Given the description of an element on the screen output the (x, y) to click on. 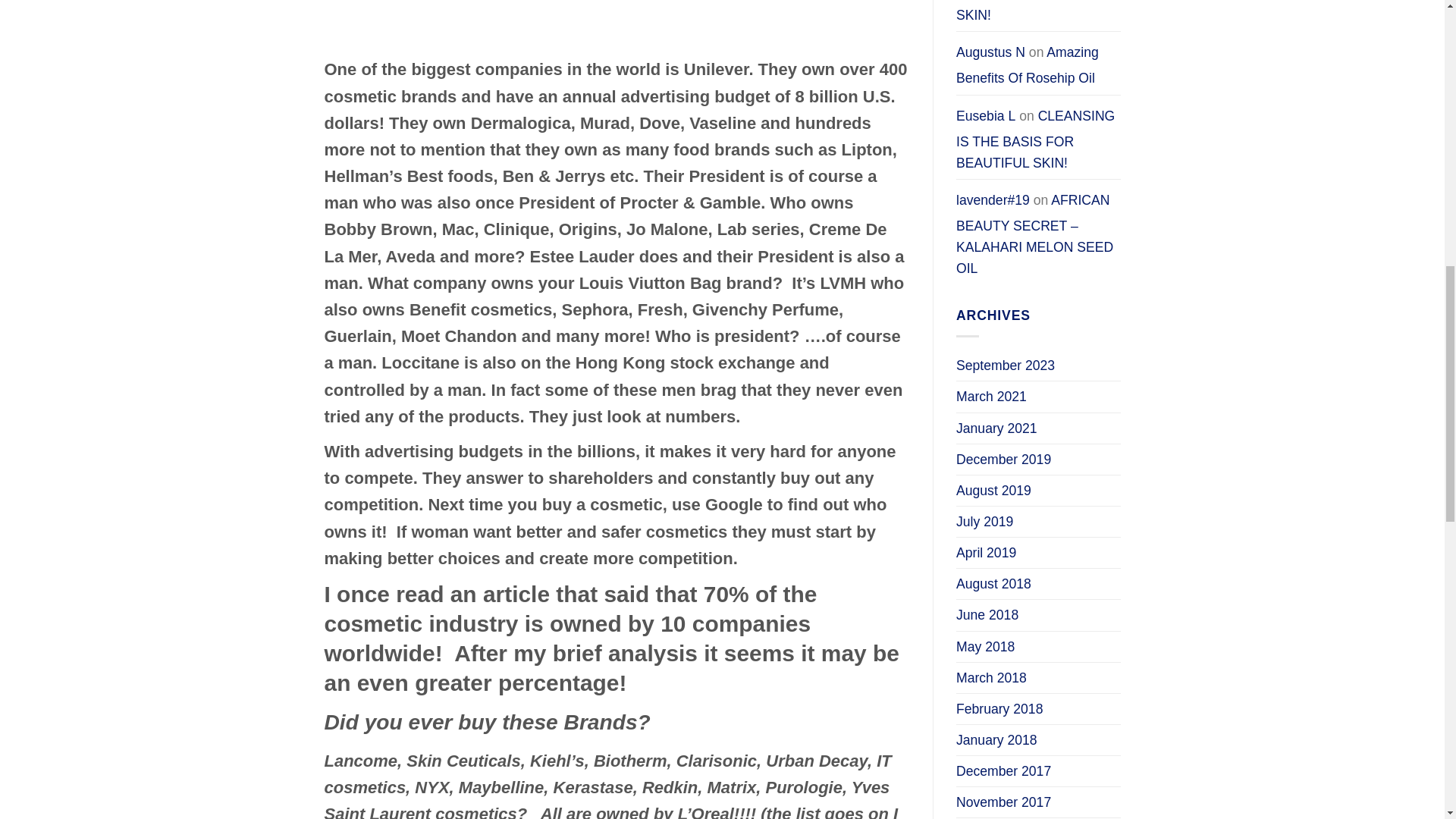
CLEANSING IS THE BASIS FOR BEAUTIFUL SKIN! (1029, 13)
Augustus N (990, 52)
